Given the description of an element on the screen output the (x, y) to click on. 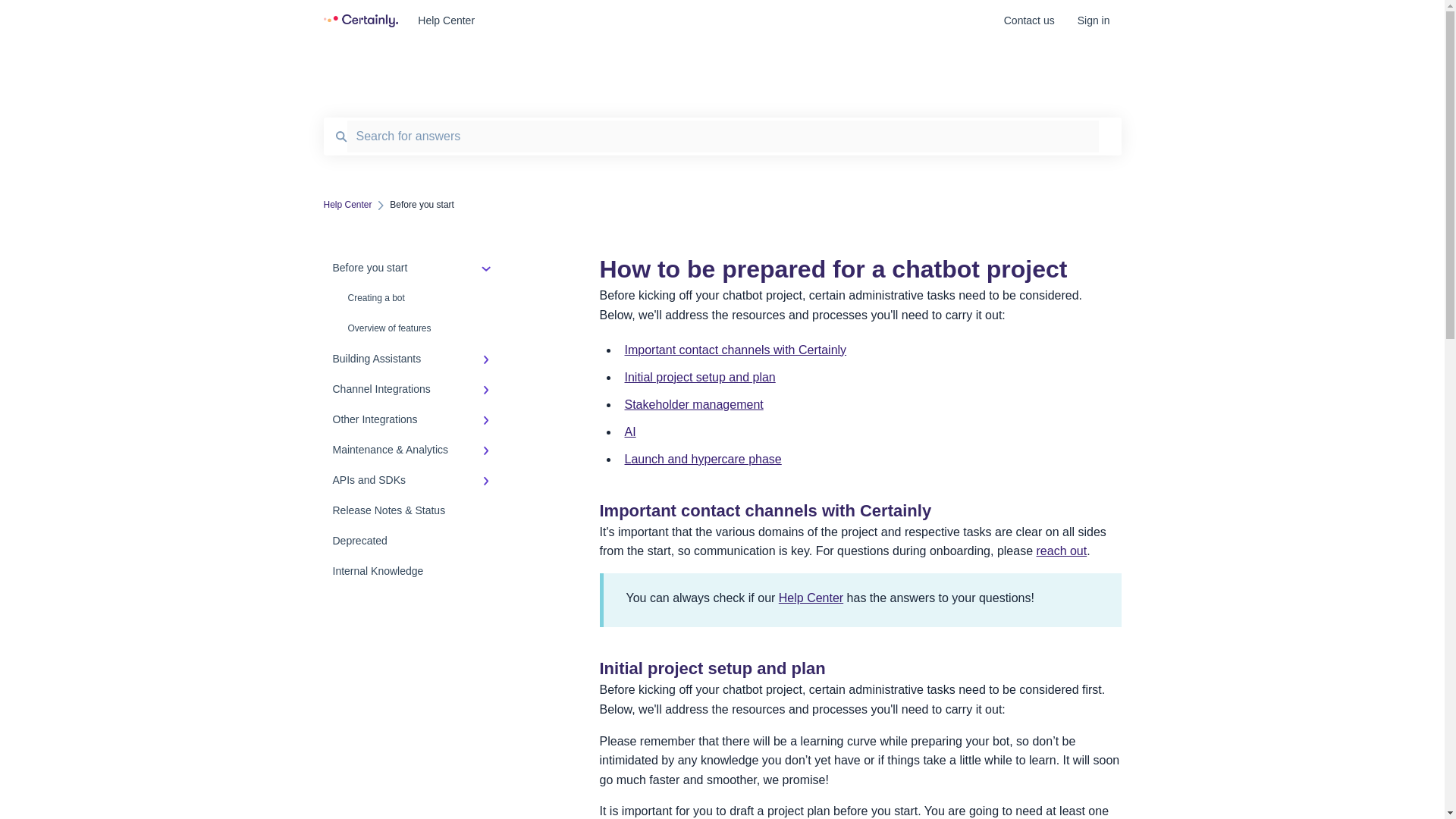
Contact us (1029, 25)
Help Center (687, 20)
